Given the description of an element on the screen output the (x, y) to click on. 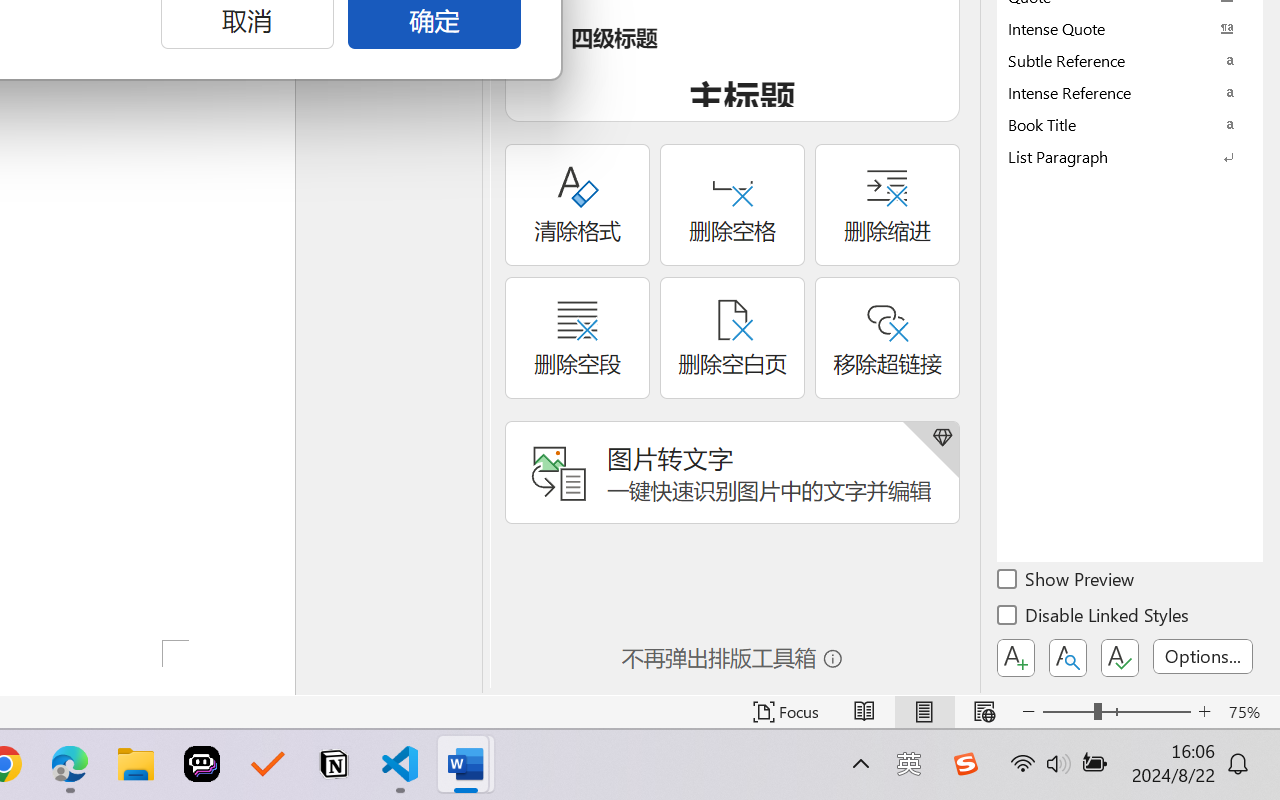
Show Preview (1067, 582)
